Given the description of an element on the screen output the (x, y) to click on. 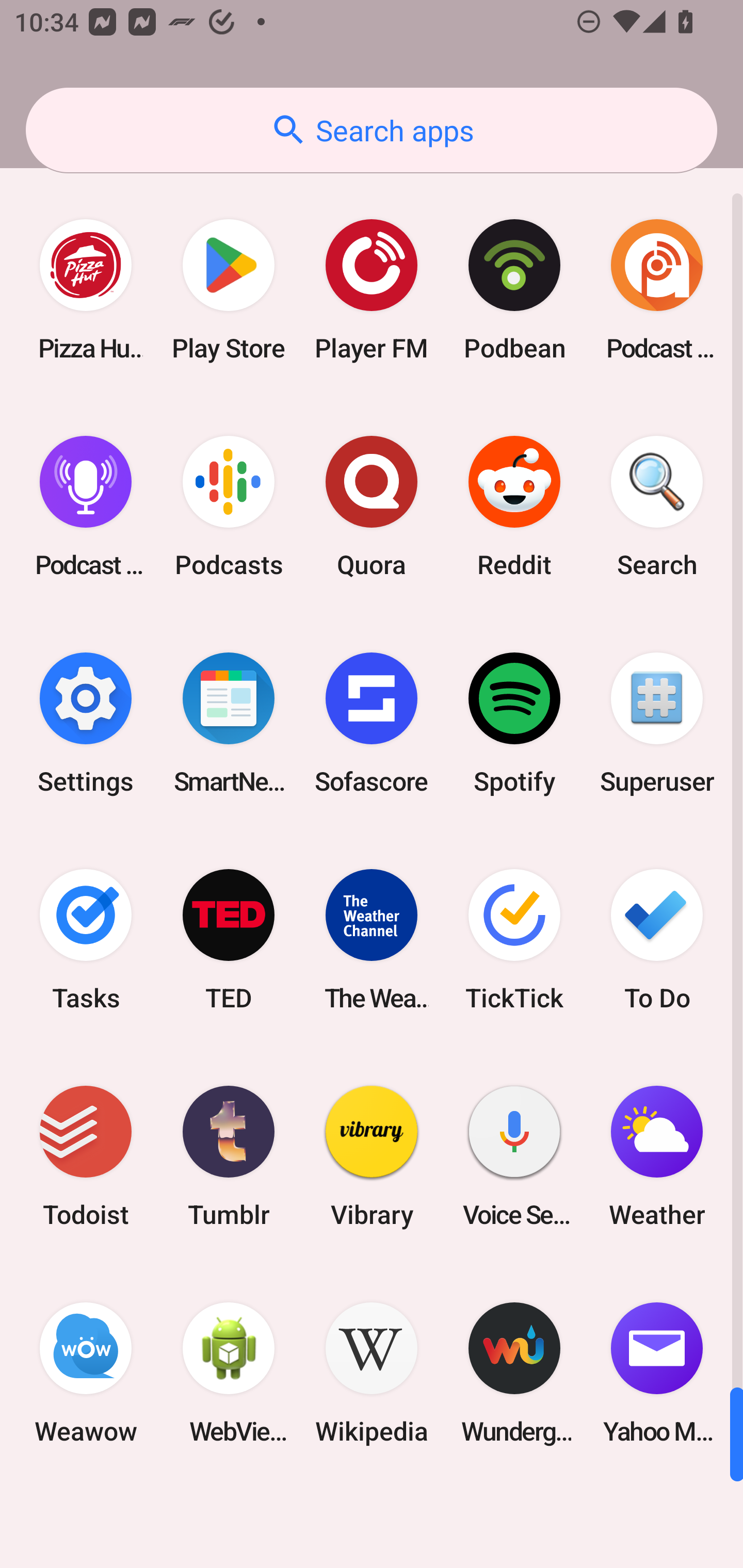
  Search apps (371, 130)
Pizza Hut HK & Macau (85, 289)
Play Store (228, 289)
Player FM (371, 289)
Podbean (514, 289)
Podcast Addict (656, 289)
Podcast Player (85, 506)
Podcasts (228, 506)
Quora (371, 506)
Reddit (514, 506)
Search (656, 506)
Settings (85, 722)
SmartNews (228, 722)
Sofascore (371, 722)
Spotify (514, 722)
Superuser (656, 722)
Tasks (85, 939)
TED (228, 939)
The Weather Channel (371, 939)
TickTick (514, 939)
To Do (656, 939)
Todoist (85, 1156)
Tumblr (228, 1156)
Vibrary (371, 1156)
Voice Search (514, 1156)
Weather (656, 1156)
Weawow (85, 1373)
WebView Browser Tester (228, 1373)
Wikipedia (371, 1373)
Wunderground (514, 1373)
Yahoo Mail (656, 1373)
